Given the description of an element on the screen output the (x, y) to click on. 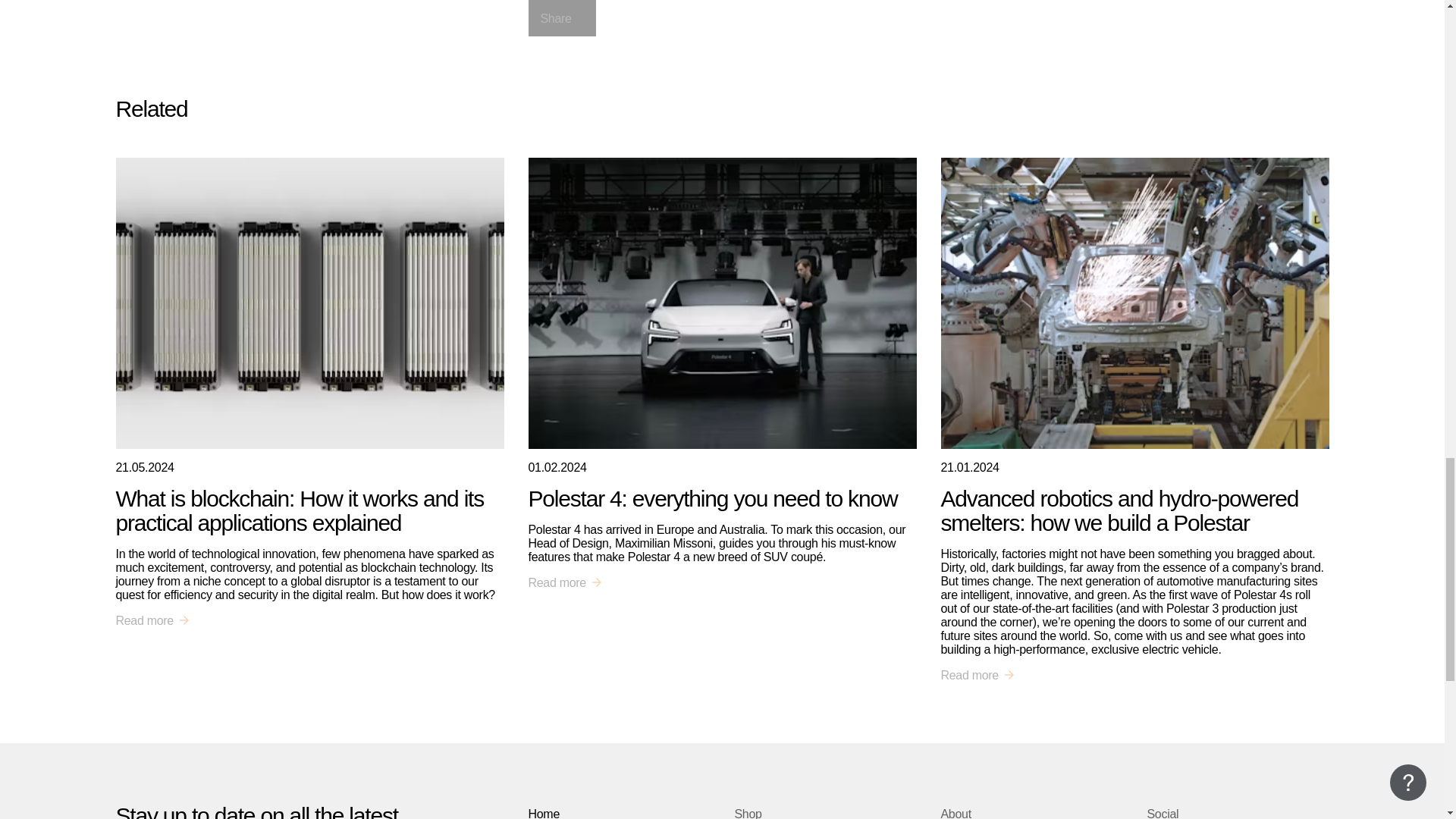
Read more (152, 621)
Read more (564, 582)
Share (561, 18)
